Given the description of an element on the screen output the (x, y) to click on. 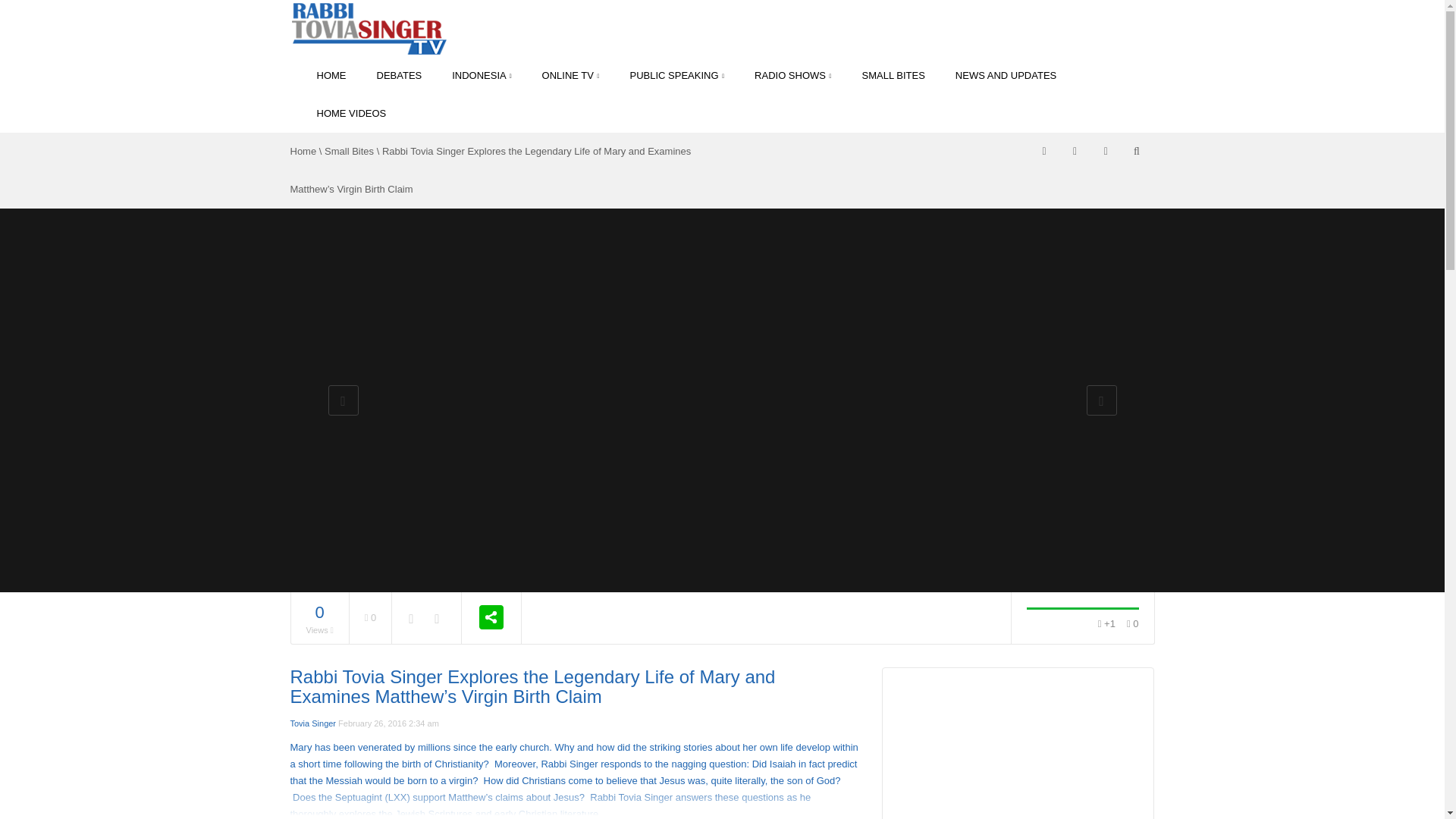
Small Bites (349, 151)
NEWS AND UPDATES (1005, 75)
RADIO SHOWS (792, 75)
SMALL BITES (893, 75)
HOME VIDEOS (344, 113)
PUBLIC SPEAKING (676, 75)
INDONESIA (480, 75)
DEBATES (398, 75)
ONLINE TV (570, 75)
